Given the description of an element on the screen output the (x, y) to click on. 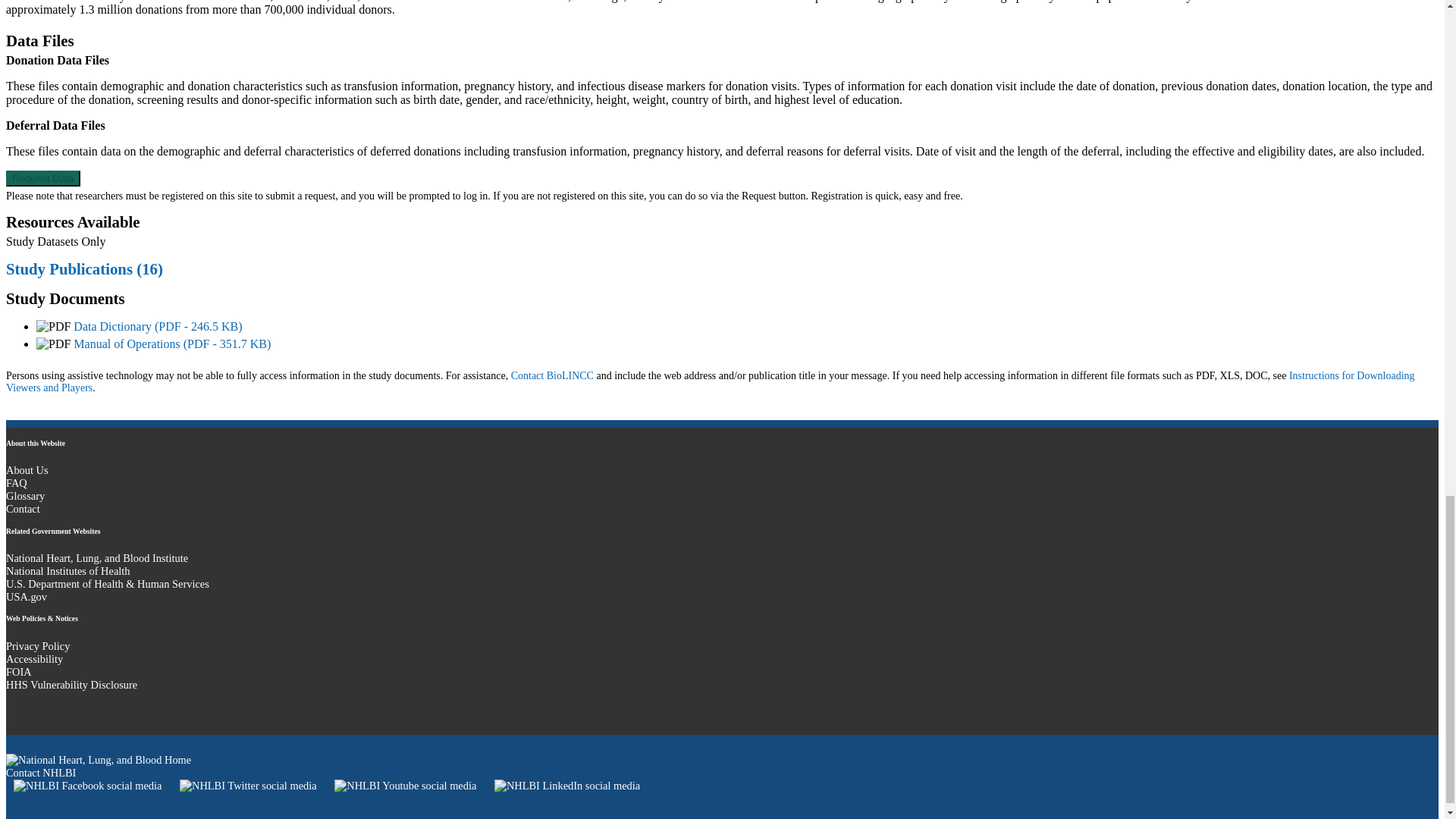
Instructions for Downloading Viewers and Players (710, 381)
Contact BioLINCC (552, 375)
Request Data (42, 178)
